Given the description of an element on the screen output the (x, y) to click on. 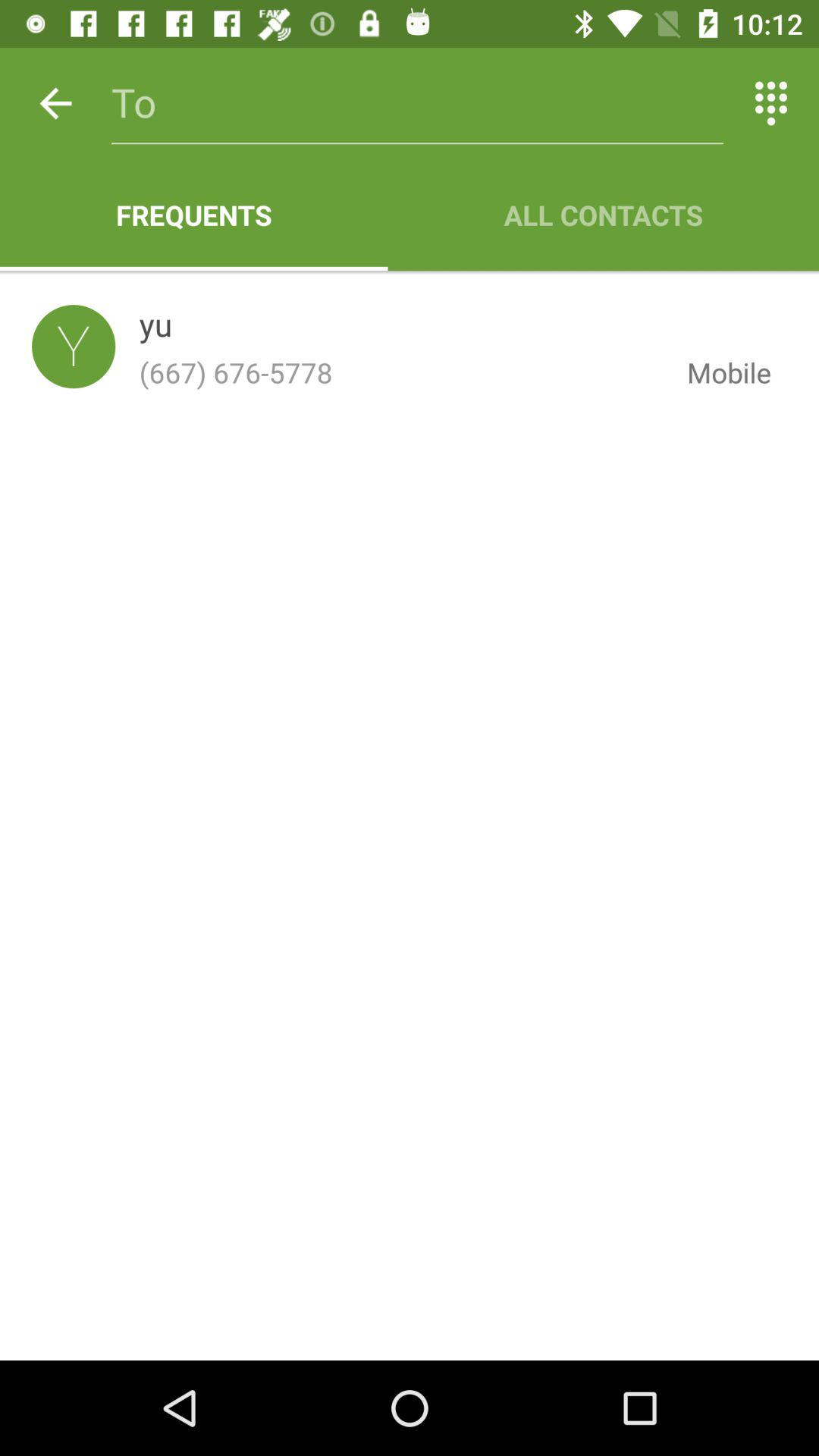
open item above the (667) 676-5778 item (155, 327)
